Given the description of an element on the screen output the (x, y) to click on. 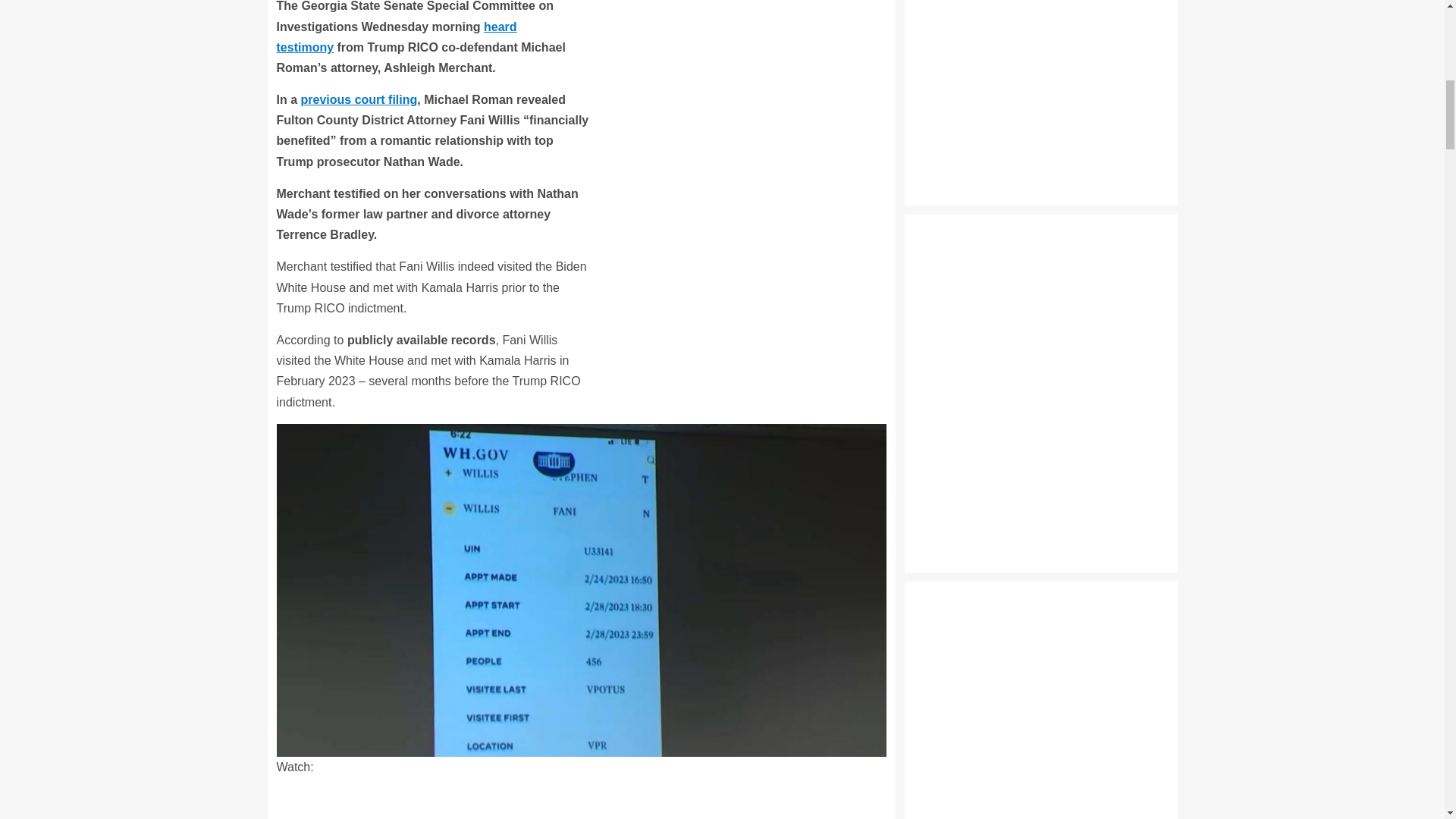
previous court filing (359, 99)
heard testimony (396, 37)
